Given the description of an element on the screen output the (x, y) to click on. 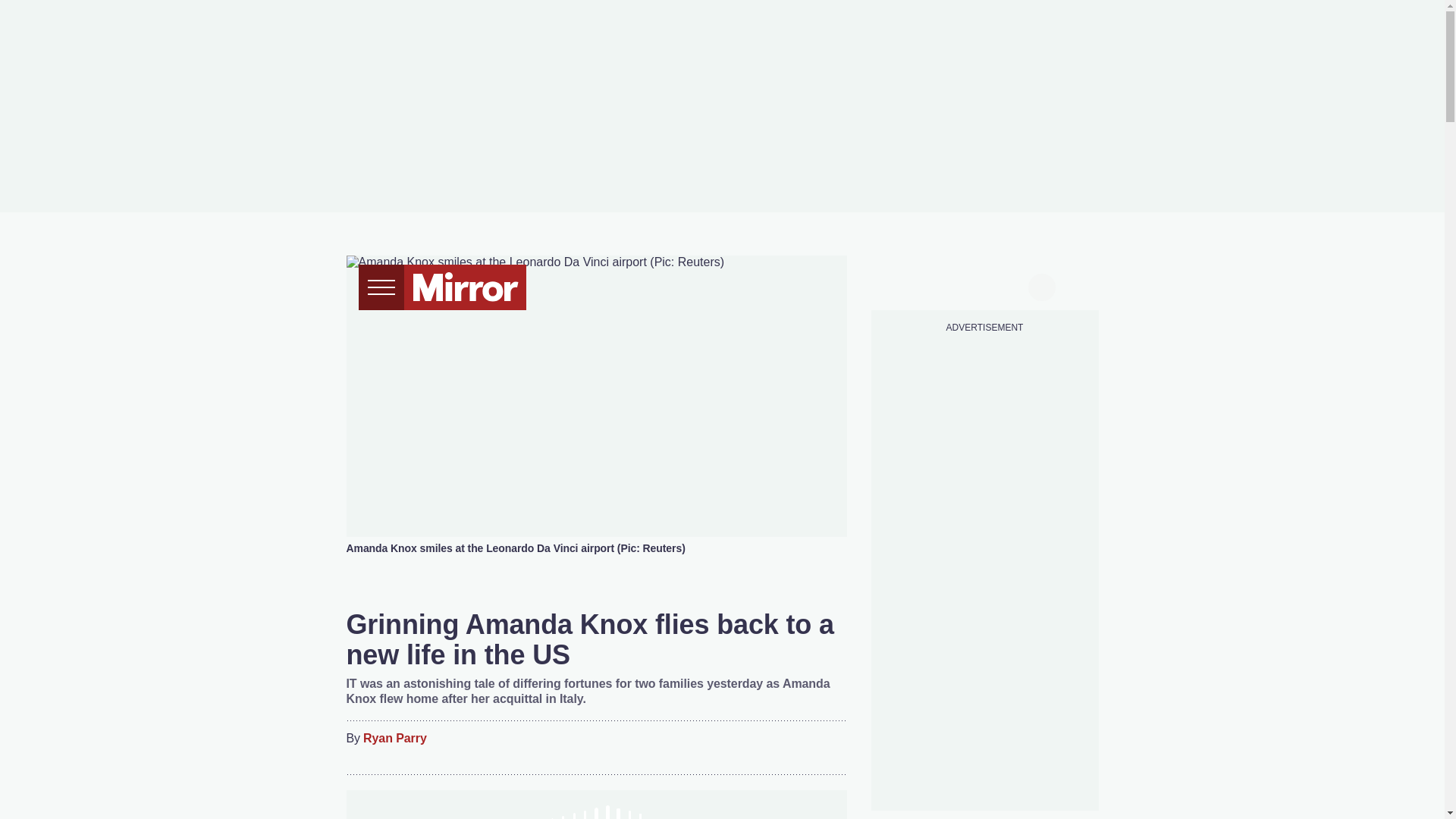
tiktok (955, 285)
Twitter (766, 748)
snapchat (1012, 285)
Whatsapp (797, 748)
Facebook (736, 748)
Ryan Parry (394, 738)
instagram (984, 285)
facebook (897, 285)
twitter (926, 285)
